Given the description of an element on the screen output the (x, y) to click on. 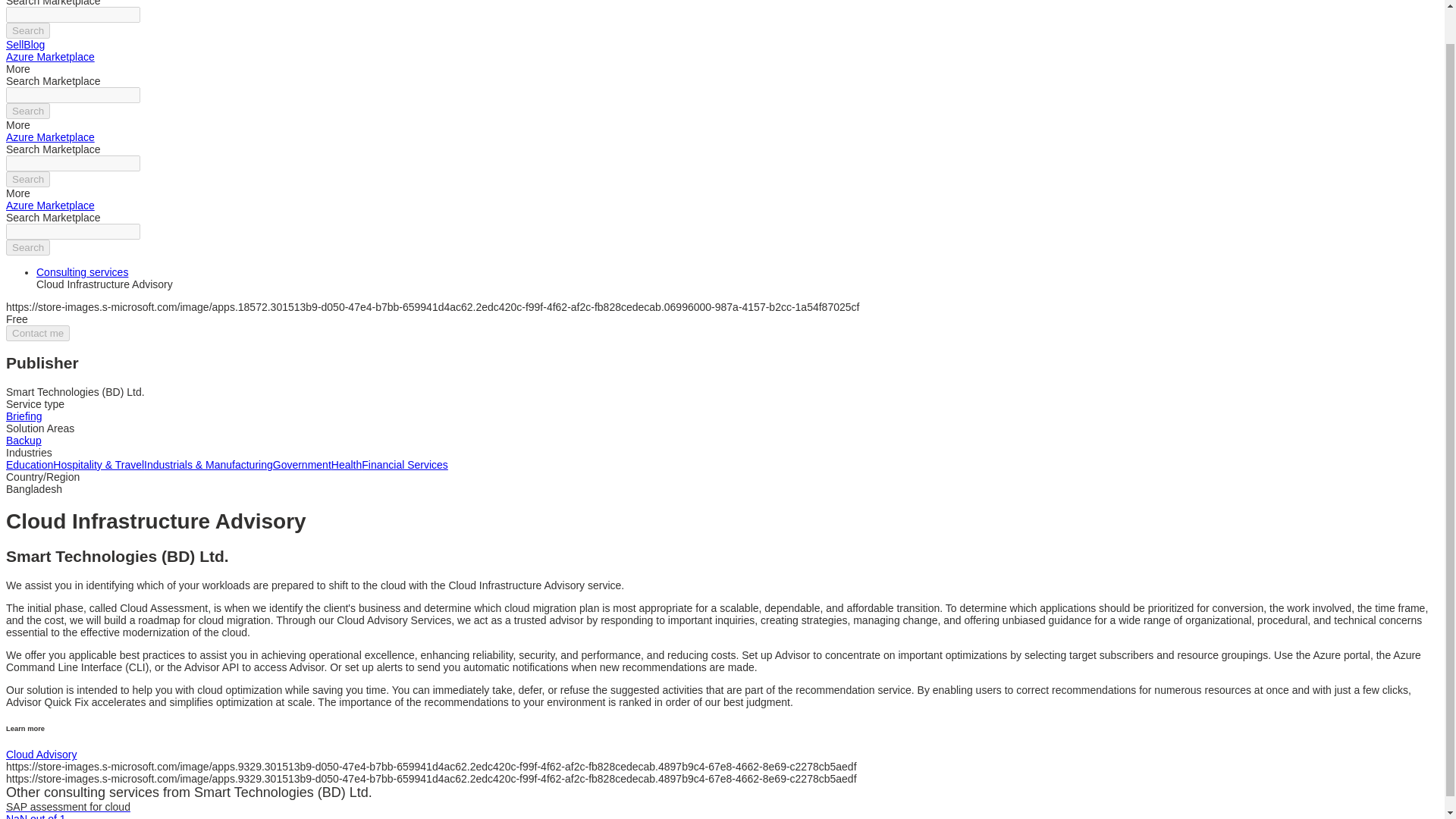
Azure Marketplace (49, 205)
Search (27, 110)
Education (28, 464)
Contact me (37, 333)
Cloud Advisory (41, 754)
Azure Marketplace (49, 56)
Backup (23, 440)
Search (27, 247)
Health (346, 464)
Sell (14, 44)
